Given the description of an element on the screen output the (x, y) to click on. 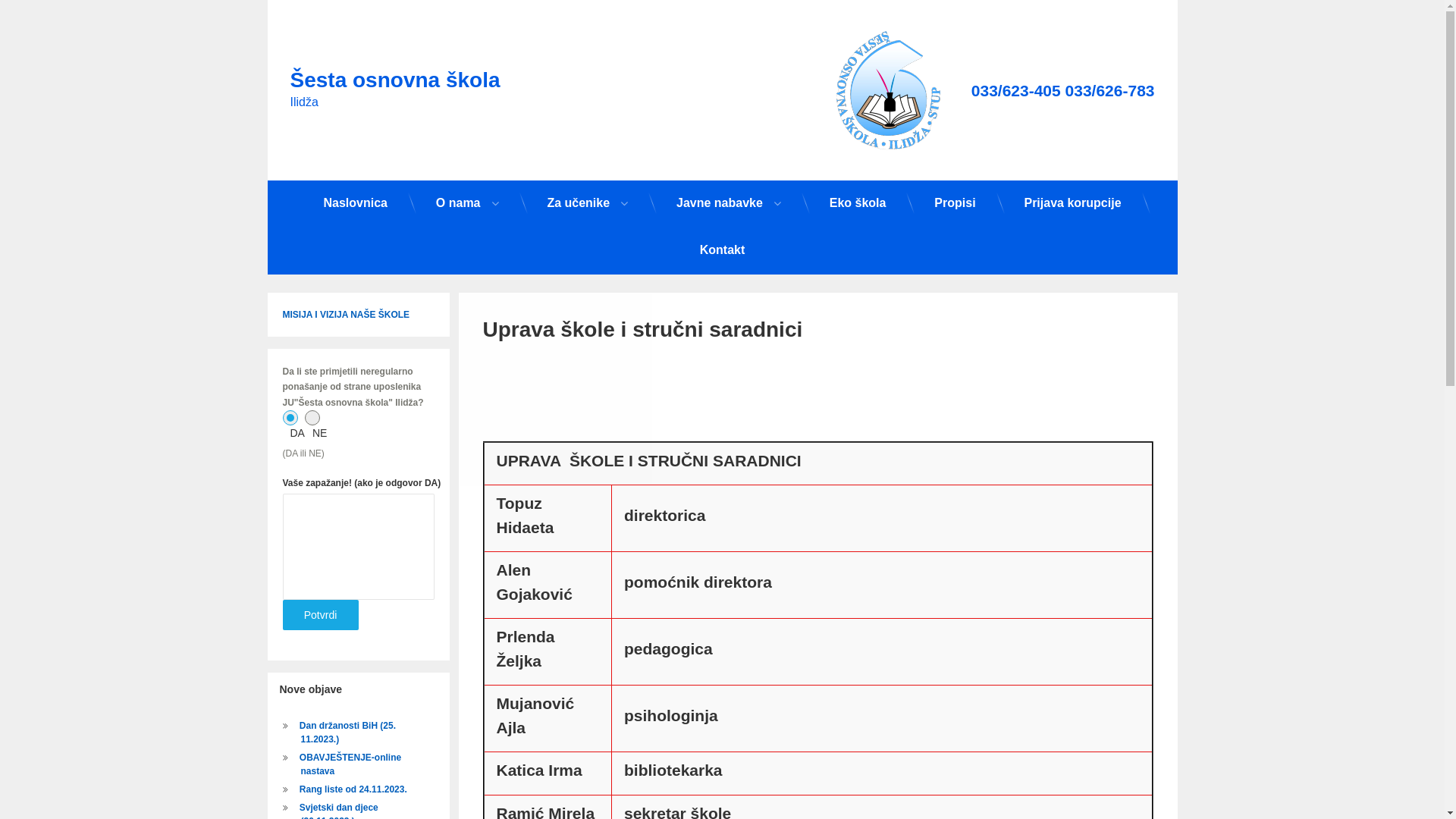
Potvrdi Element type: text (319, 614)
Javne nabavke Element type: text (728, 203)
Tel:
033/623-405 033/626-783 Element type: text (1062, 90)
Rang liste od 24.11.2023. Element type: text (353, 789)
Prijava korupcije Element type: text (1071, 203)
Propisi Element type: text (954, 203)
Kontakt Element type: text (722, 250)
O nama Element type: text (467, 203)
Naslovnica Element type: text (354, 203)
